Given the description of an element on the screen output the (x, y) to click on. 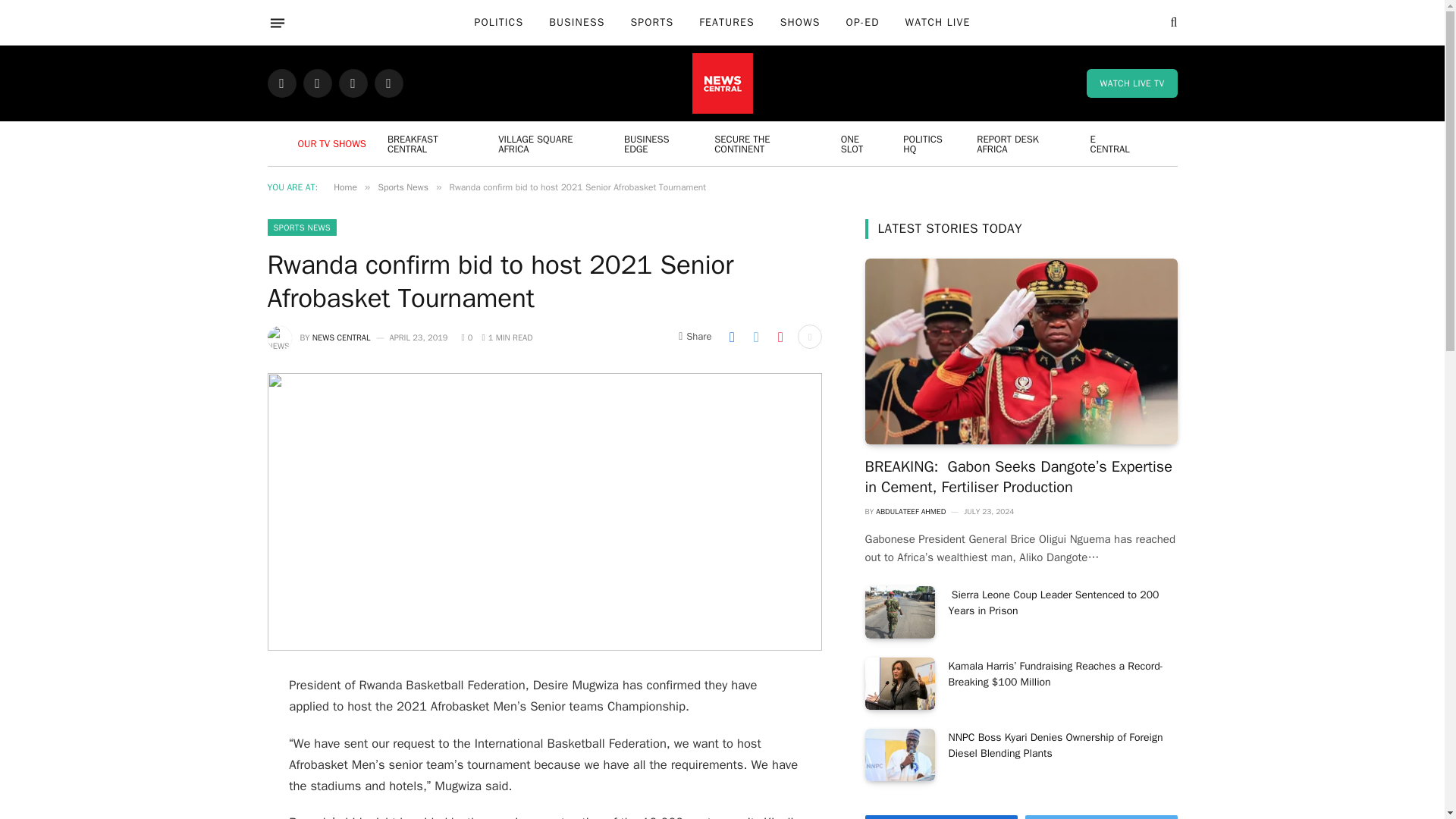
E CENTRAL (1113, 143)
FEATURES (726, 22)
WATCH LIVE TV (1131, 82)
VILLAGE SQUARE AFRICA (550, 143)
Share on Pinterest (780, 336)
Show More Social Sharing (809, 336)
NEWS CENTRAL (342, 337)
REPORT DESK AFRICA (1023, 143)
Share on Facebook (731, 336)
SHOWS (799, 22)
Posts by News Central (342, 337)
ONE SLOT (862, 143)
BUSINESS EDGE (659, 143)
SPORTS NEWS (301, 227)
BUSINESS (576, 22)
